Given the description of an element on the screen output the (x, y) to click on. 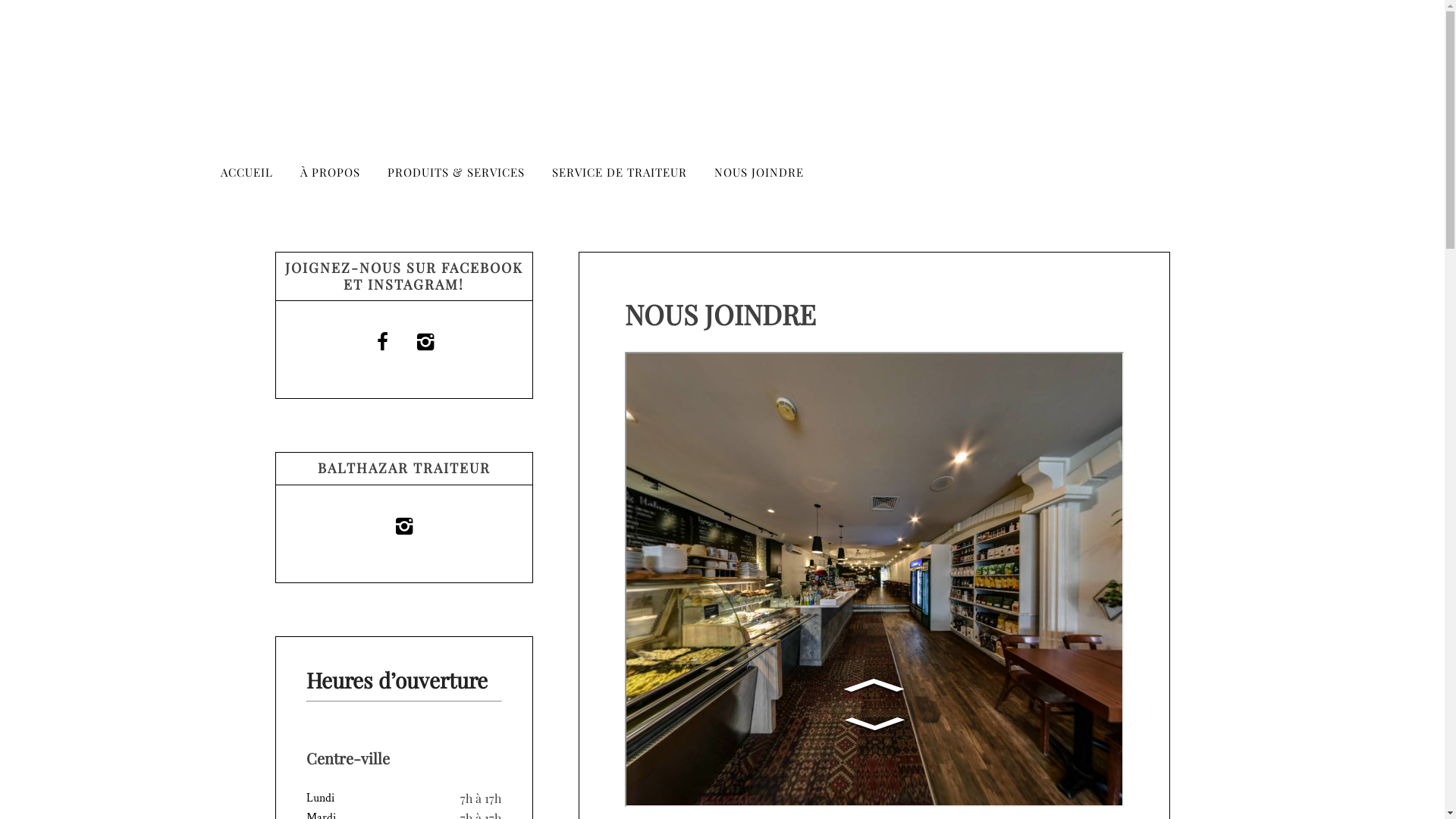
NOUS JOINDRE Element type: text (758, 171)
ACCUEIL Element type: text (245, 171)
PRODUITS & SERVICES Element type: text (455, 171)
SERVICE DE TRAITEUR Element type: text (619, 171)
